Given the description of an element on the screen output the (x, y) to click on. 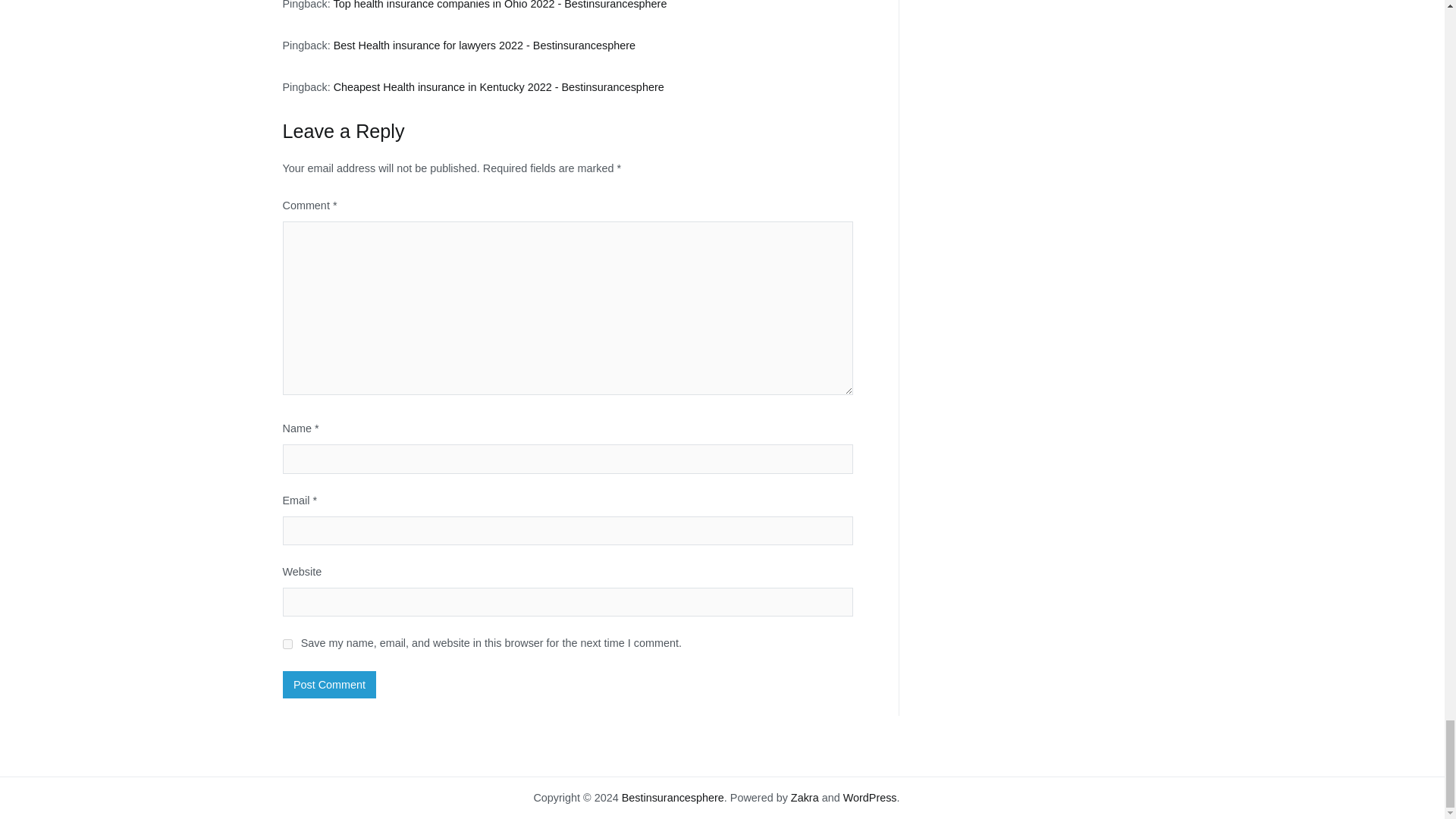
WordPress (869, 797)
Post Comment (328, 684)
Bestinsurancesphere (672, 797)
yes (287, 644)
Zakra (804, 797)
